Given the description of an element on the screen output the (x, y) to click on. 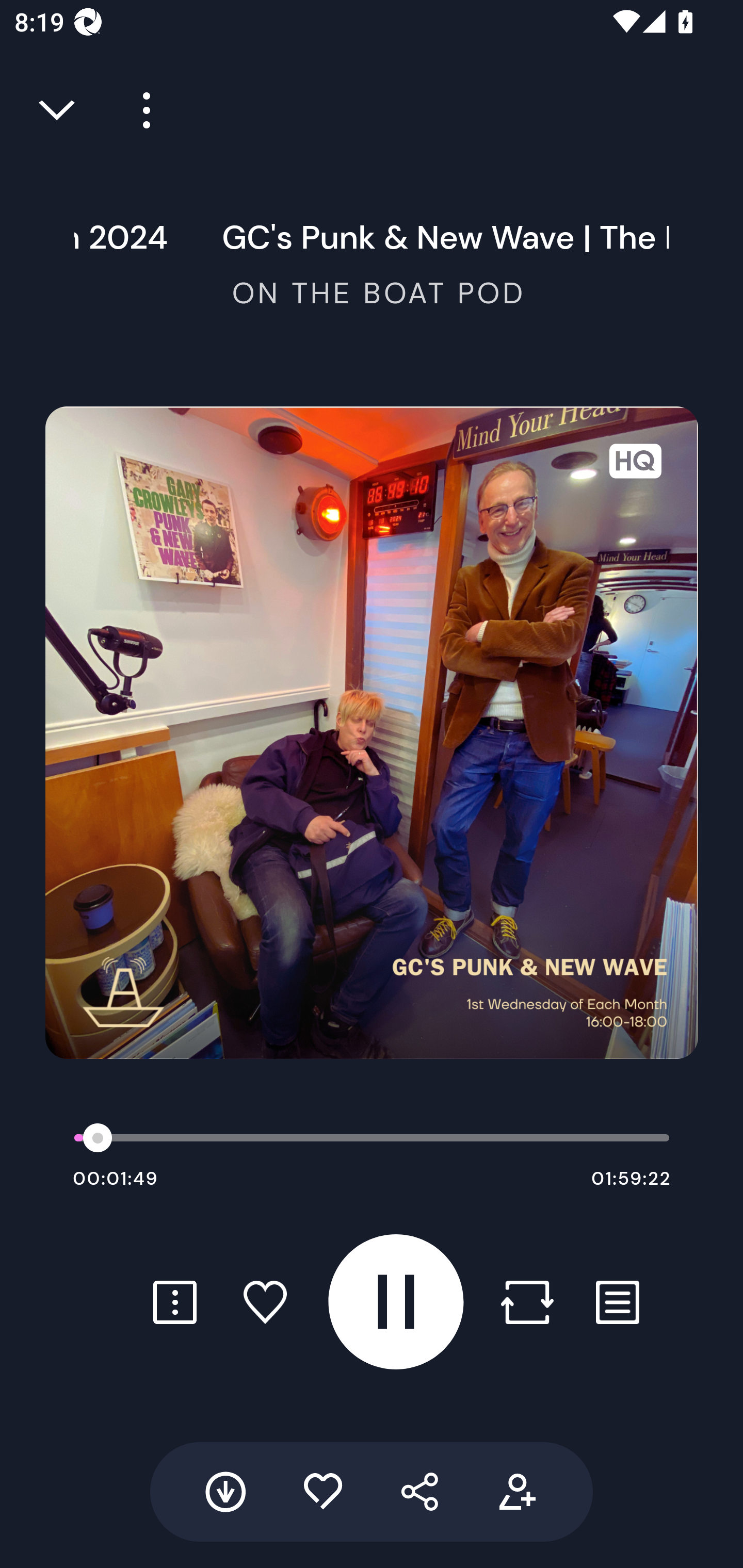
Close full player (58, 110)
Player more options button (139, 110)
Repost button (527, 1301)
